Given the description of an element on the screen output the (x, y) to click on. 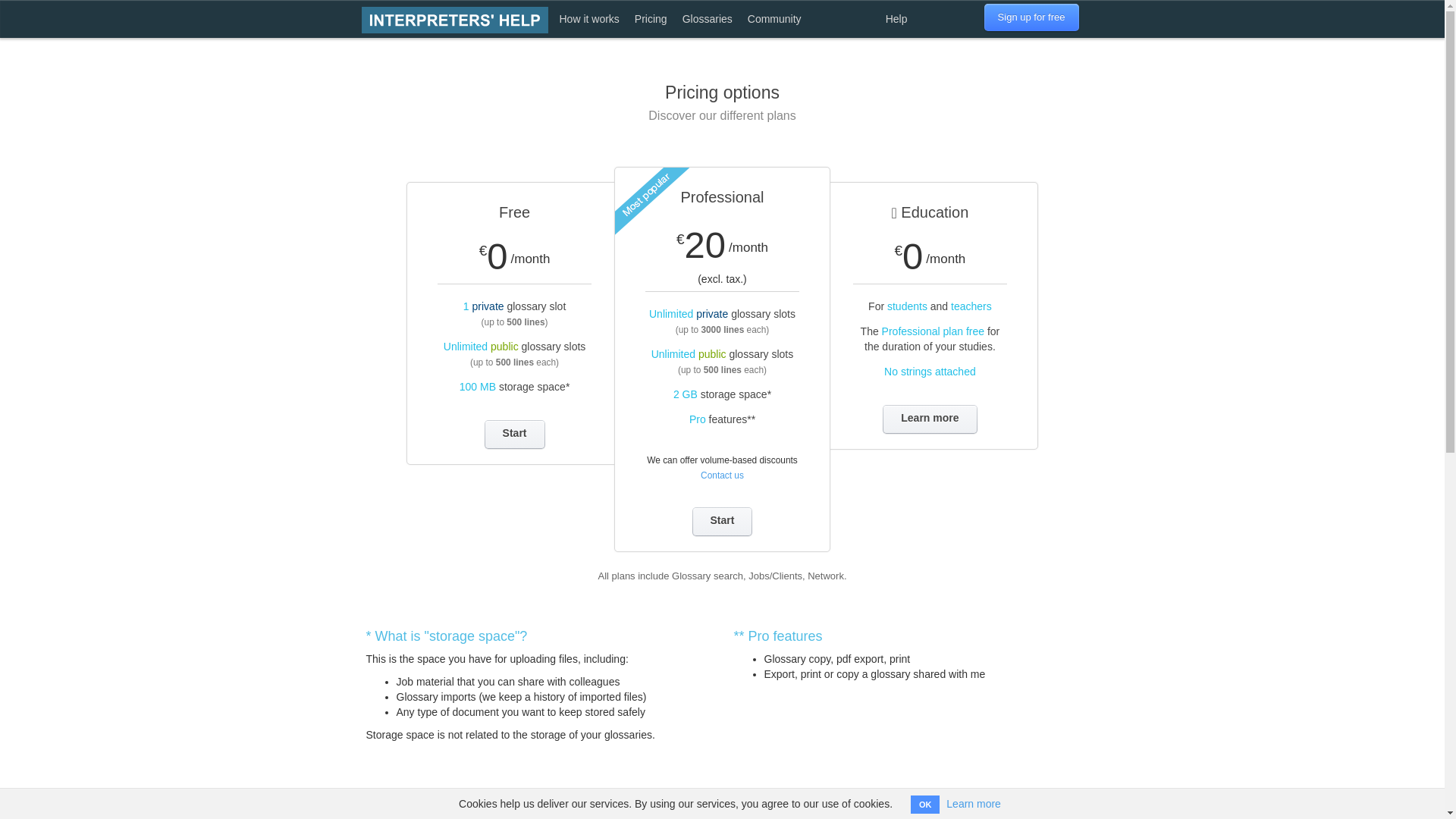
Community (774, 18)
Sign up for free (1031, 17)
How it works (589, 18)
Learn more (929, 419)
Help (896, 18)
OK (925, 804)
Glossaries (707, 18)
Learn more (973, 803)
Start (722, 521)
Contact us (722, 475)
Start (514, 434)
Pricing (651, 18)
